Given the description of an element on the screen output the (x, y) to click on. 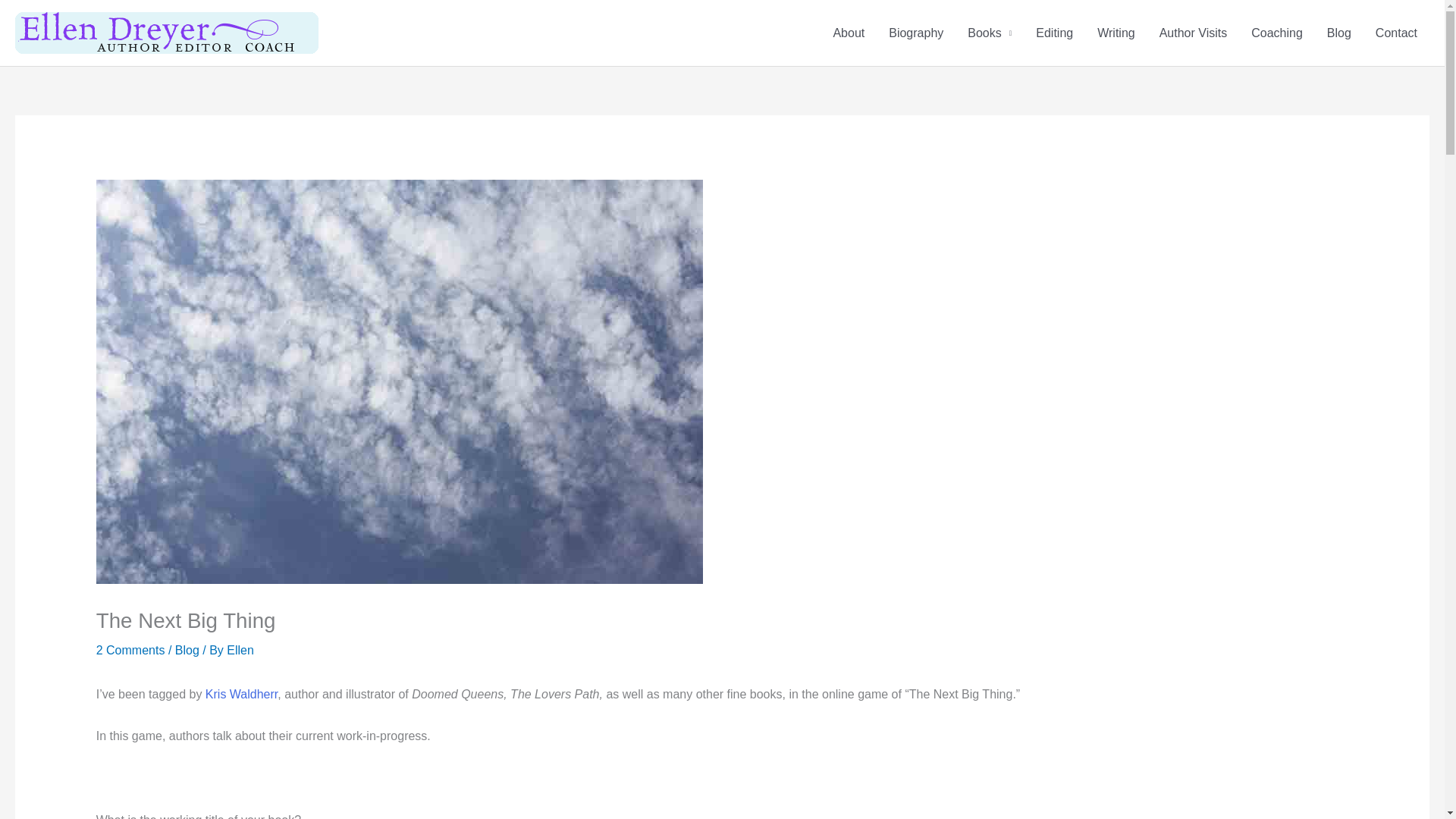
Writing (1115, 33)
Books (989, 33)
Coaching (1276, 33)
Author Visits (1193, 33)
Kris blog (240, 694)
Kris Waldherr (240, 694)
Editing (1053, 33)
Blog (186, 649)
Ellen (240, 649)
Contact (1395, 33)
2 Comments (130, 649)
View all posts by Ellen (240, 649)
Biography (915, 33)
